Given the description of an element on the screen output the (x, y) to click on. 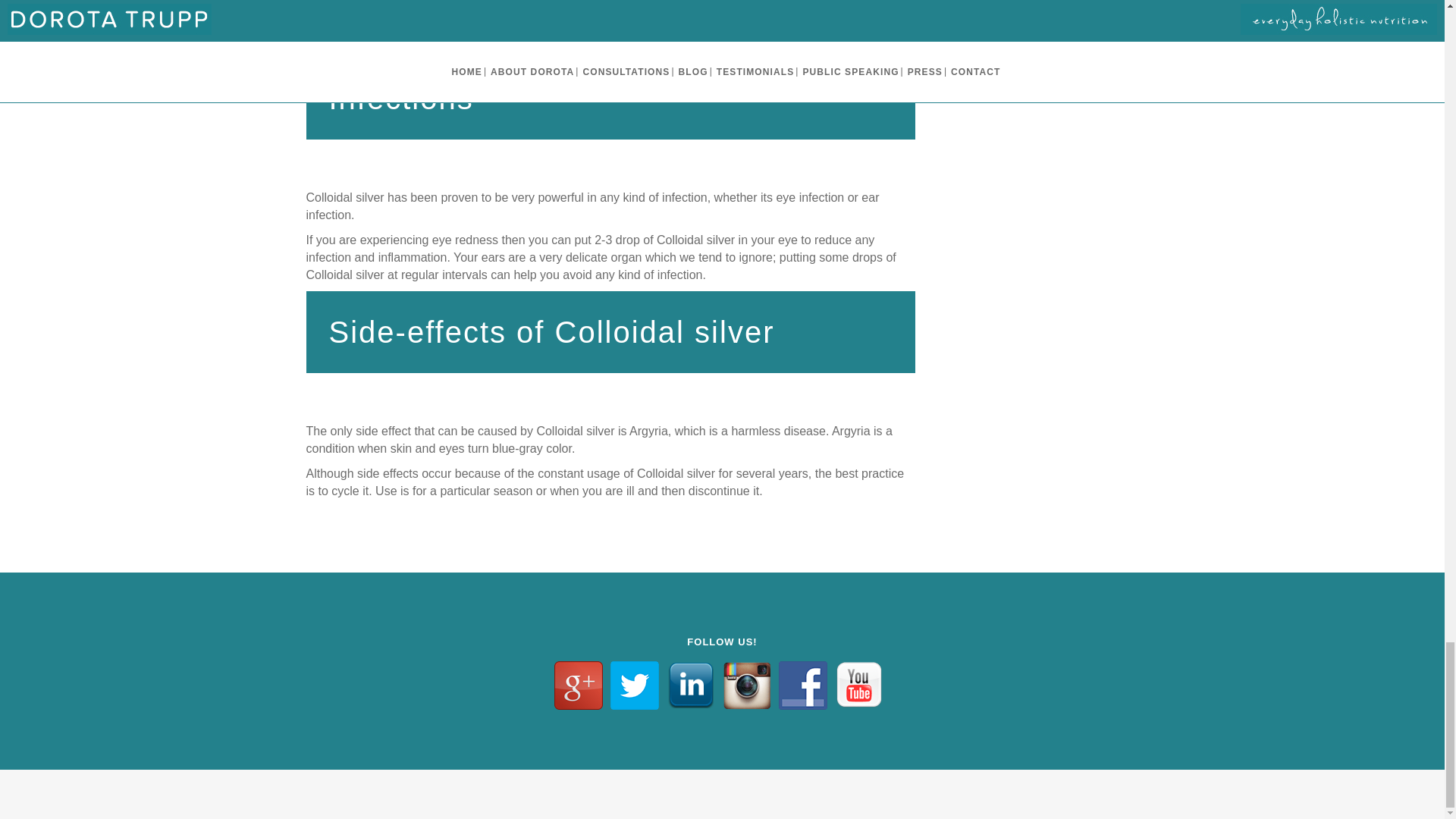
 Instagram (746, 685)
 LinkedIn (689, 685)
 Twitter (634, 685)
 Facebook (802, 685)
 YouTube (858, 685)
